Given the description of an element on the screen output the (x, y) to click on. 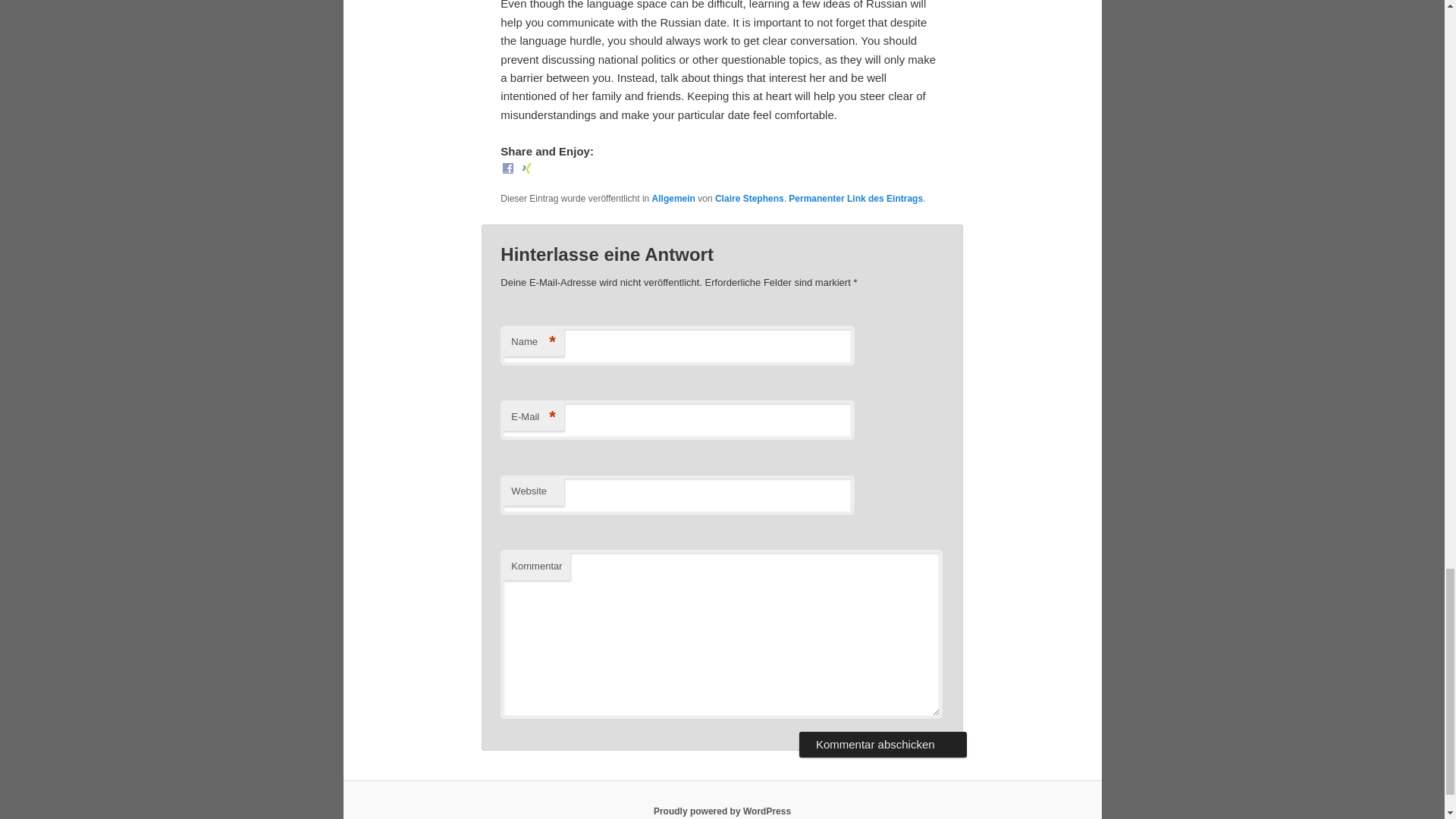
Semantic Personal Publishing Platform (721, 810)
Facebook (507, 169)
XING (526, 169)
Allgemein (673, 198)
Facebook (507, 168)
Proudly powered by WordPress (721, 810)
Kommentar abschicken (882, 744)
Kommentar abschicken (882, 744)
Permanenter Link des Eintrags (856, 198)
